Given the description of an element on the screen output the (x, y) to click on. 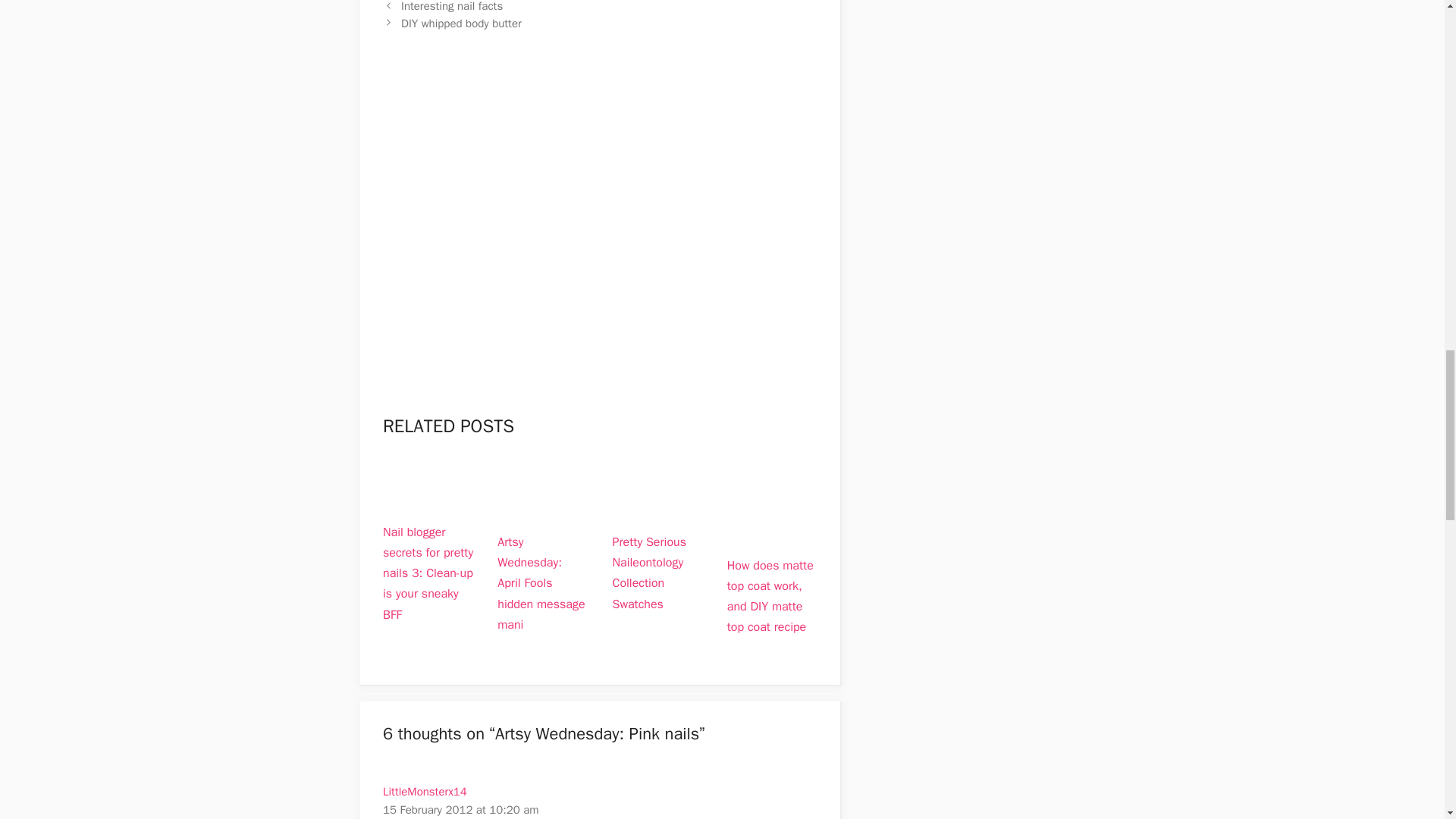
Pretty Serious Naileontology Collection Swatches (648, 572)
Artsy Wednesday: April Fools hidden message mani (541, 583)
DIY whipped body butter (461, 23)
How does matte top coat work, and DIY matte top coat recipe (771, 531)
Pretty Serious Naileontology Collection Swatches (657, 509)
Interesting nail facts (451, 6)
How does matte top coat work, and DIY matte top coat recipe (769, 596)
Artsy Wednesday: April Fools hidden message mani (542, 509)
